Given the description of an element on the screen output the (x, y) to click on. 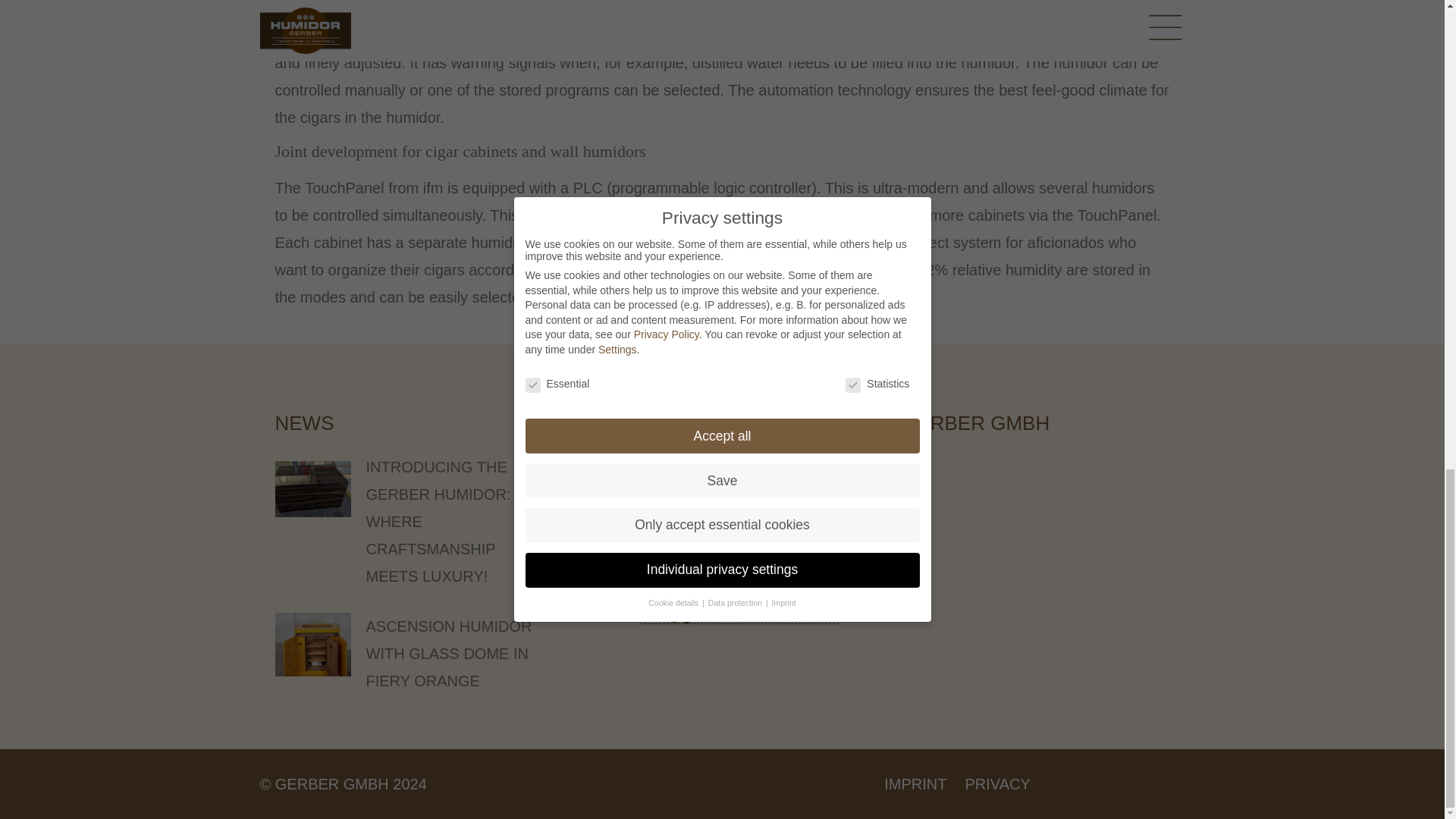
ASCENSION HUMIDOR WITH GLASS DOME IN FIERY ORANGE (448, 653)
ifm (761, 36)
TouchPanel (1060, 8)
